Given the description of an element on the screen output the (x, y) to click on. 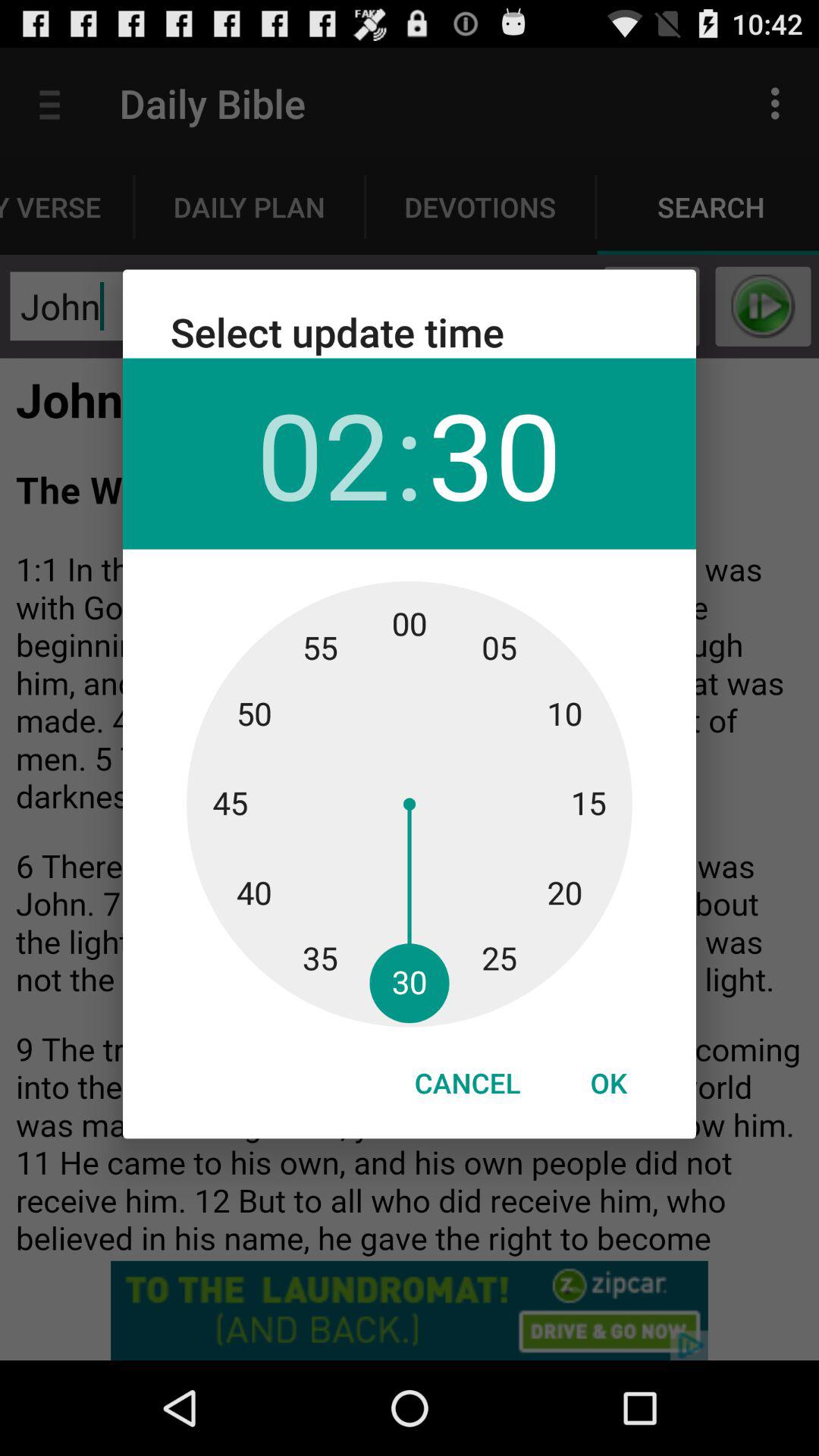
press icon next to the : icon (323, 453)
